Given the description of an element on the screen output the (x, y) to click on. 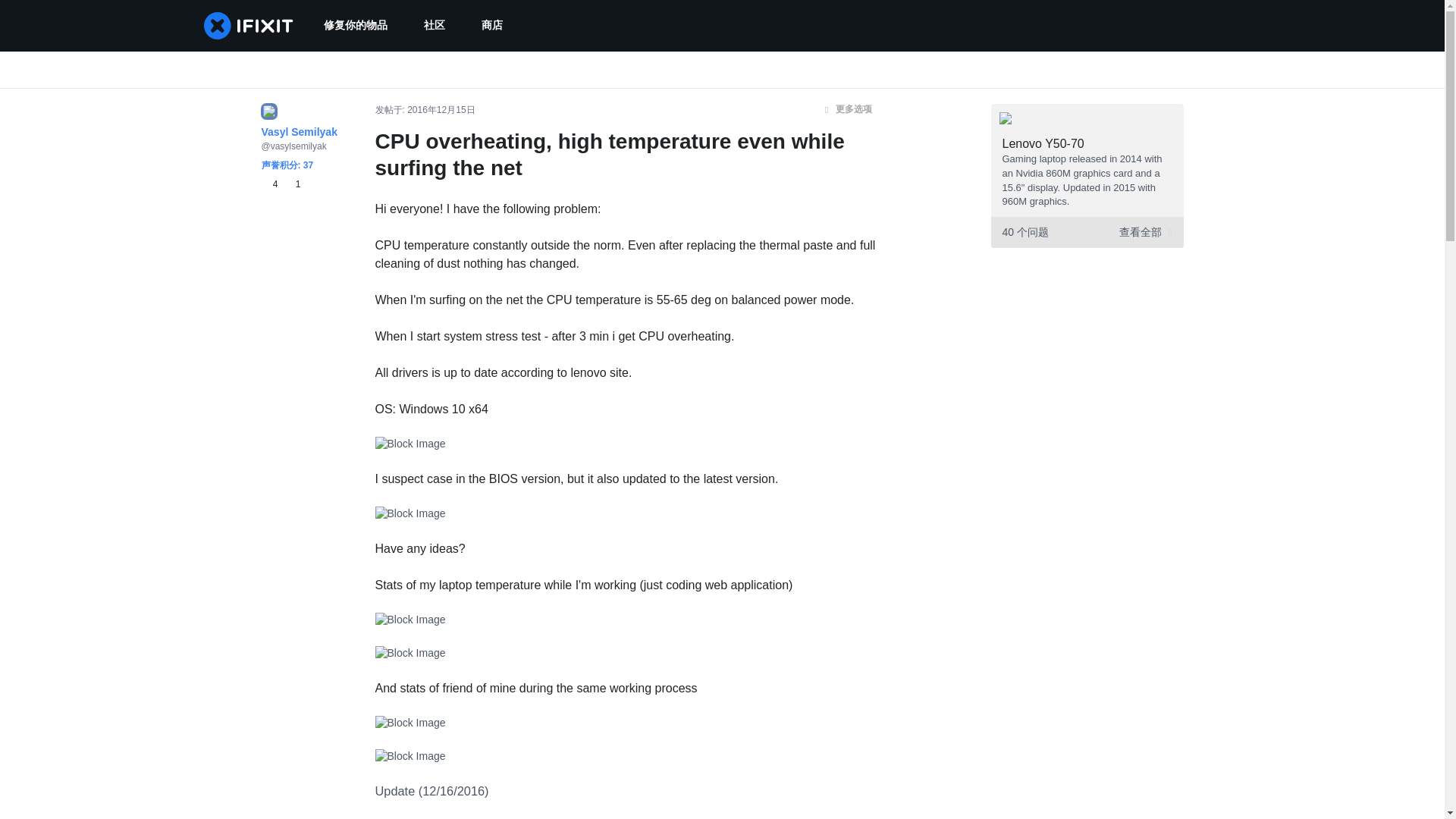
Lenovo Y50-70 (1043, 143)
Thu, 15 Dec 2016 19:38:27 -0700 (440, 109)
4 1 (279, 184)
